Given the description of an element on the screen output the (x, y) to click on. 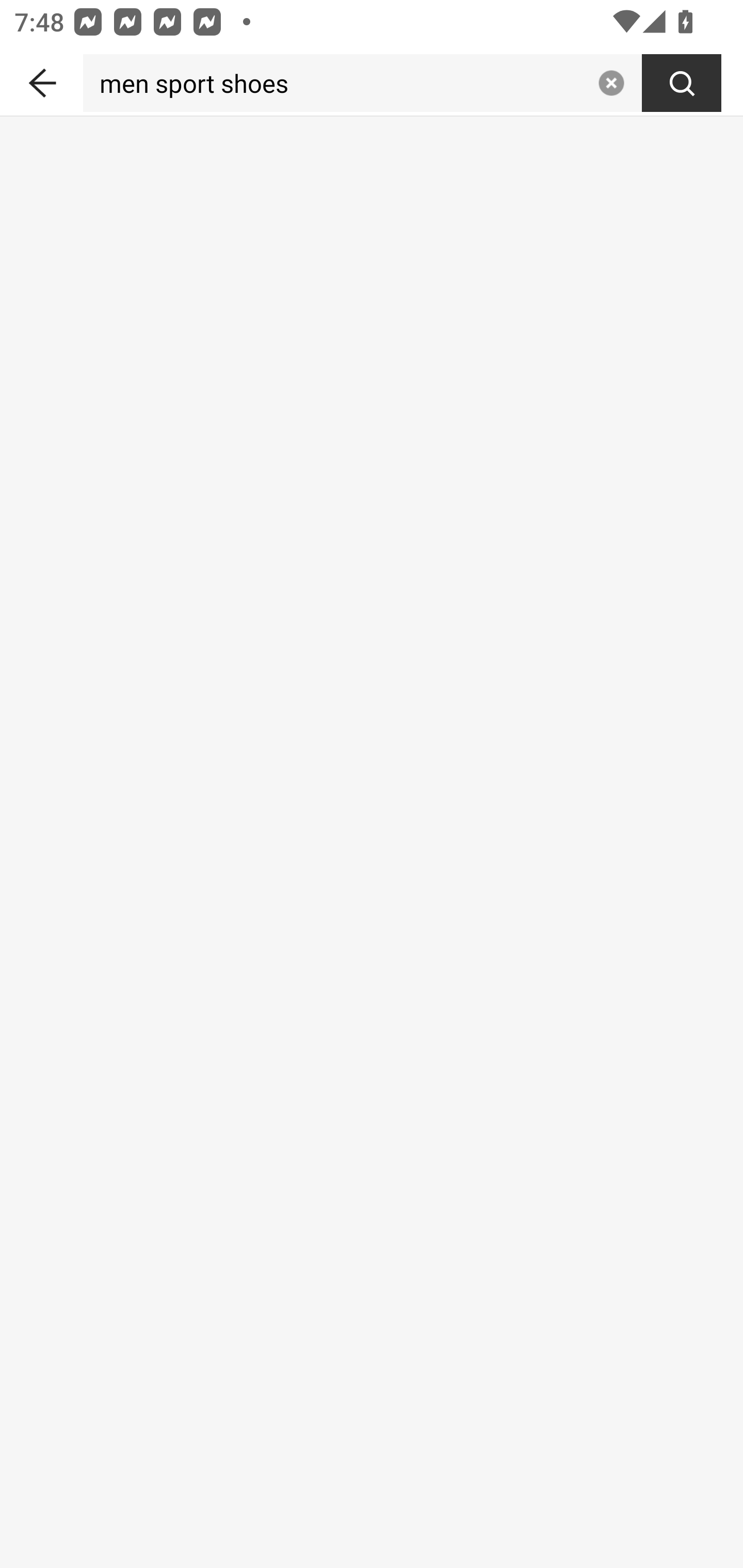
BACK (41, 79)
men sport shoes (336, 82)
Clear (610, 82)
